Given the description of an element on the screen output the (x, y) to click on. 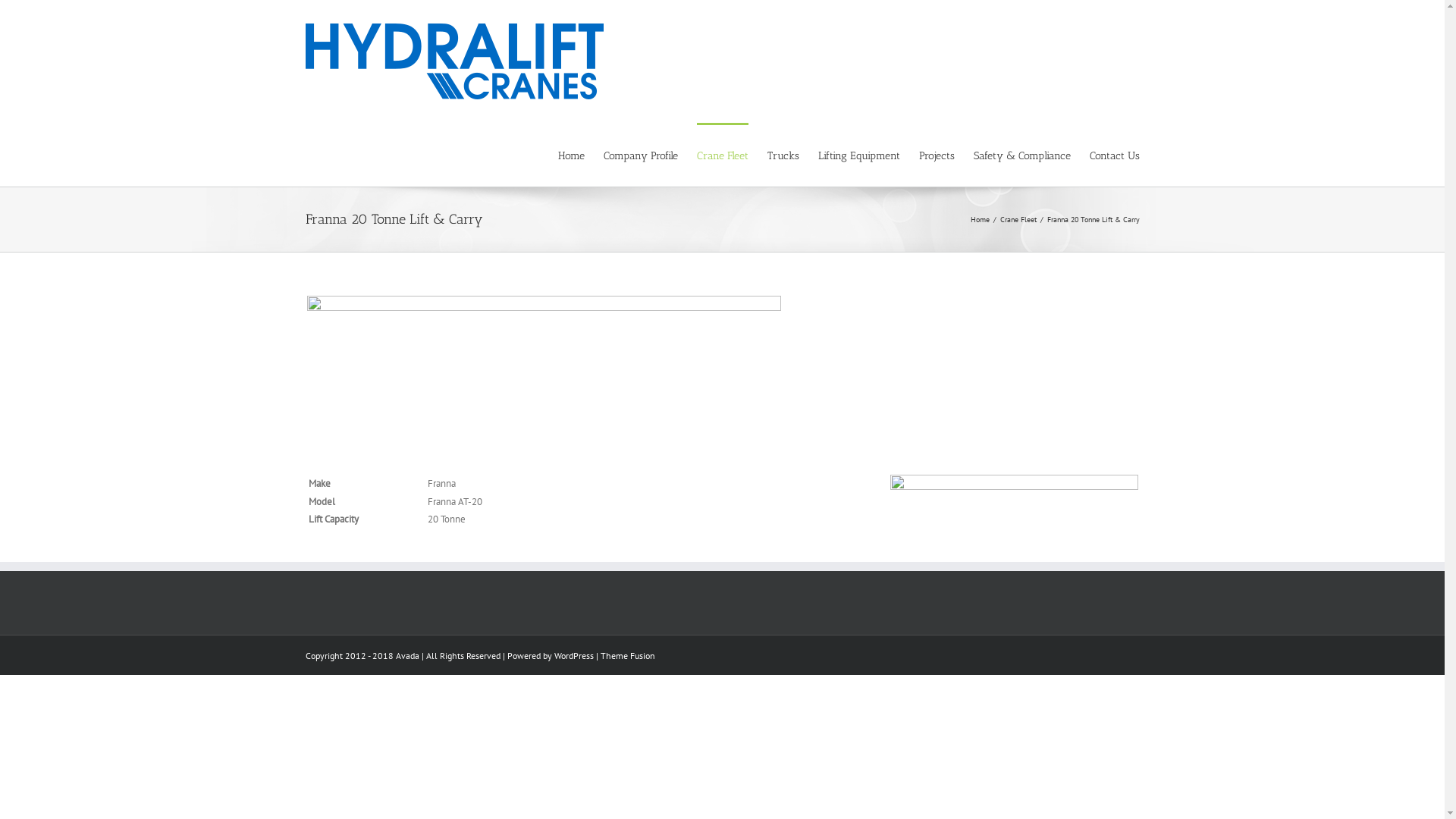
WordPress Element type: text (573, 655)
Company Profile Element type: text (640, 154)
Projects Element type: text (936, 154)
Lifting Equipment Element type: text (858, 154)
Home Element type: text (979, 219)
Home Element type: text (571, 154)
Trucks Element type: text (783, 154)
Crane Fleet Element type: text (1017, 219)
Melbourne Crane Hire Specifications Element type: hover (1014, 502)
Crane Fleet Element type: text (721, 154)
Theme Fusion Element type: text (627, 655)
Franna 20 Tonne Lift & Carry Crane Melbourne Element type: hover (543, 383)
Contact Us Element type: text (1113, 154)
Safety & Compliance Element type: text (1021, 154)
